Given the description of an element on the screen output the (x, y) to click on. 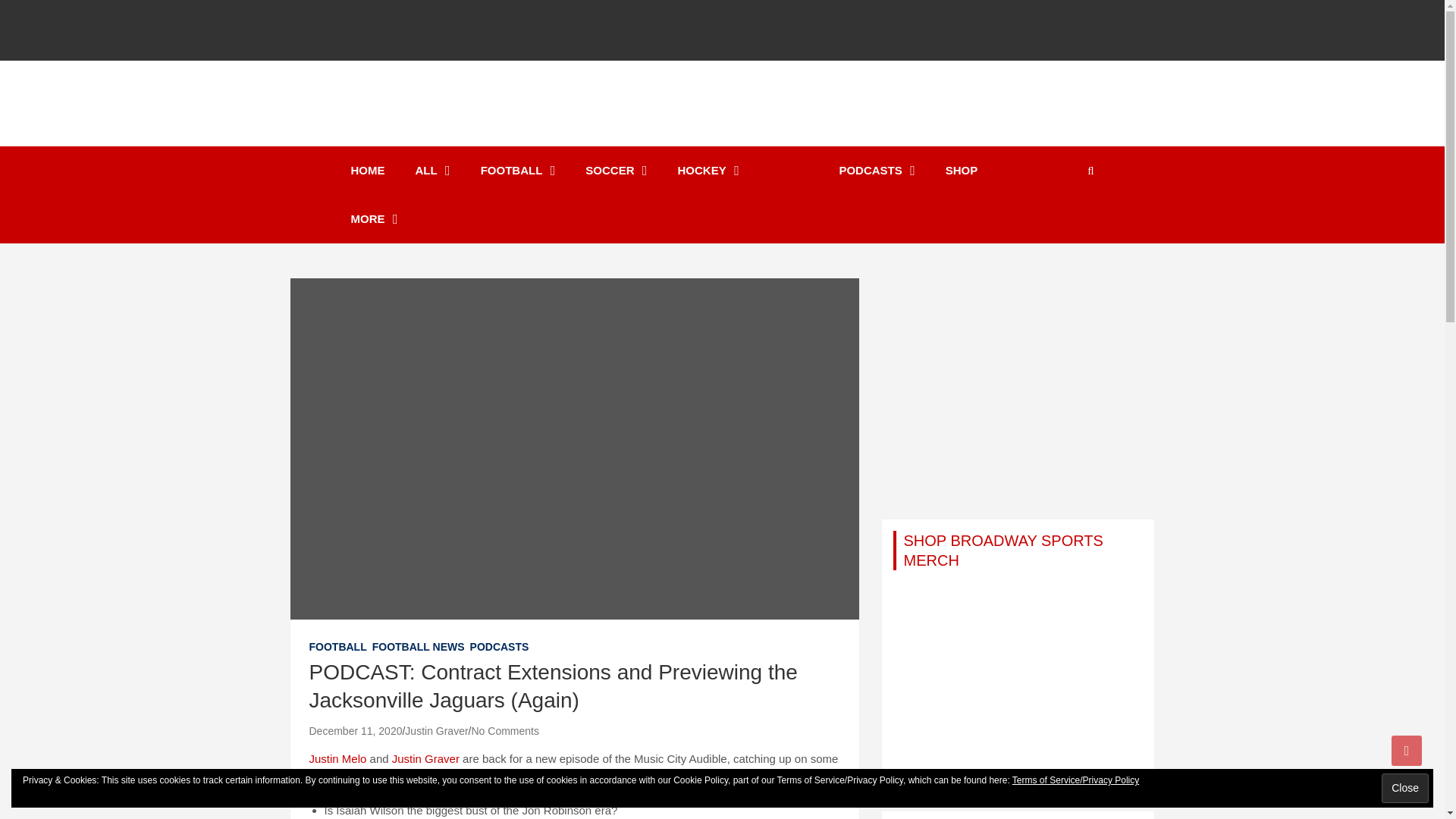
ALL (432, 170)
HOME (366, 170)
Close (1404, 788)
Go to Top (1406, 750)
FOOTBALL (517, 170)
